Given the description of an element on the screen output the (x, y) to click on. 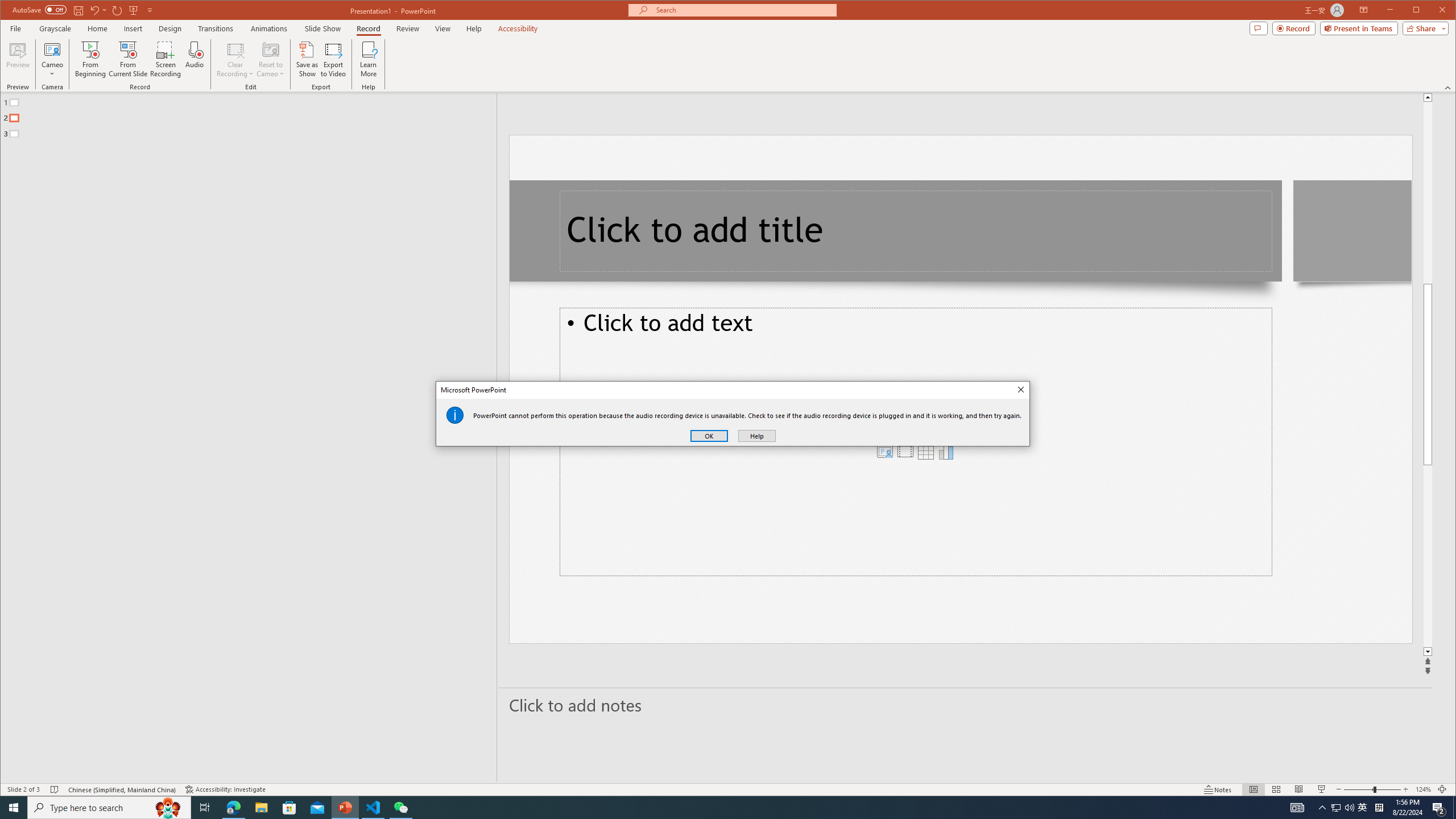
Save as Show (307, 59)
Export to Video (333, 59)
